Given the description of an element on the screen output the (x, y) to click on. 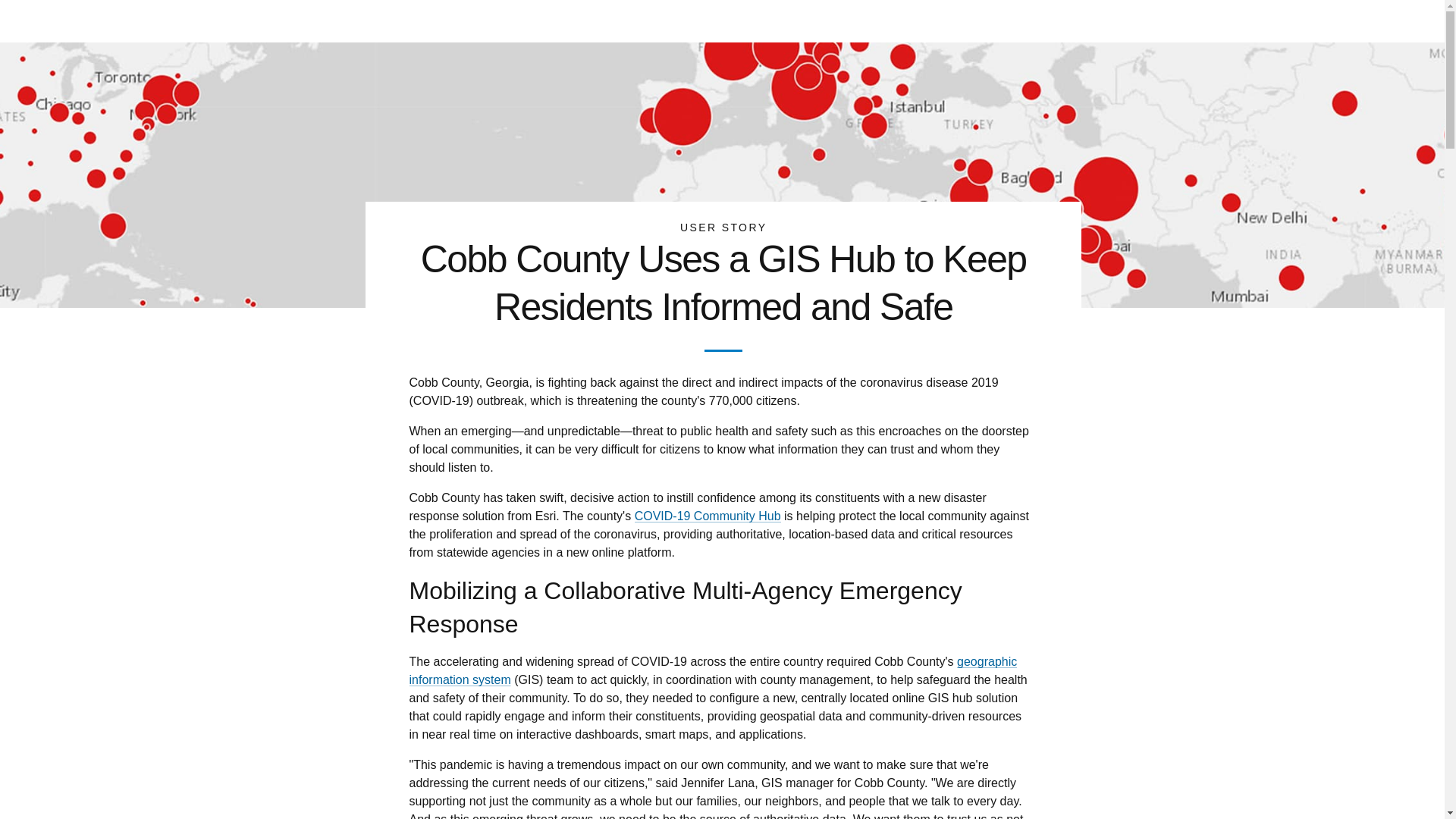
COVID-19 Community Hub (707, 515)
geographic information system (713, 670)
